Given the description of an element on the screen output the (x, y) to click on. 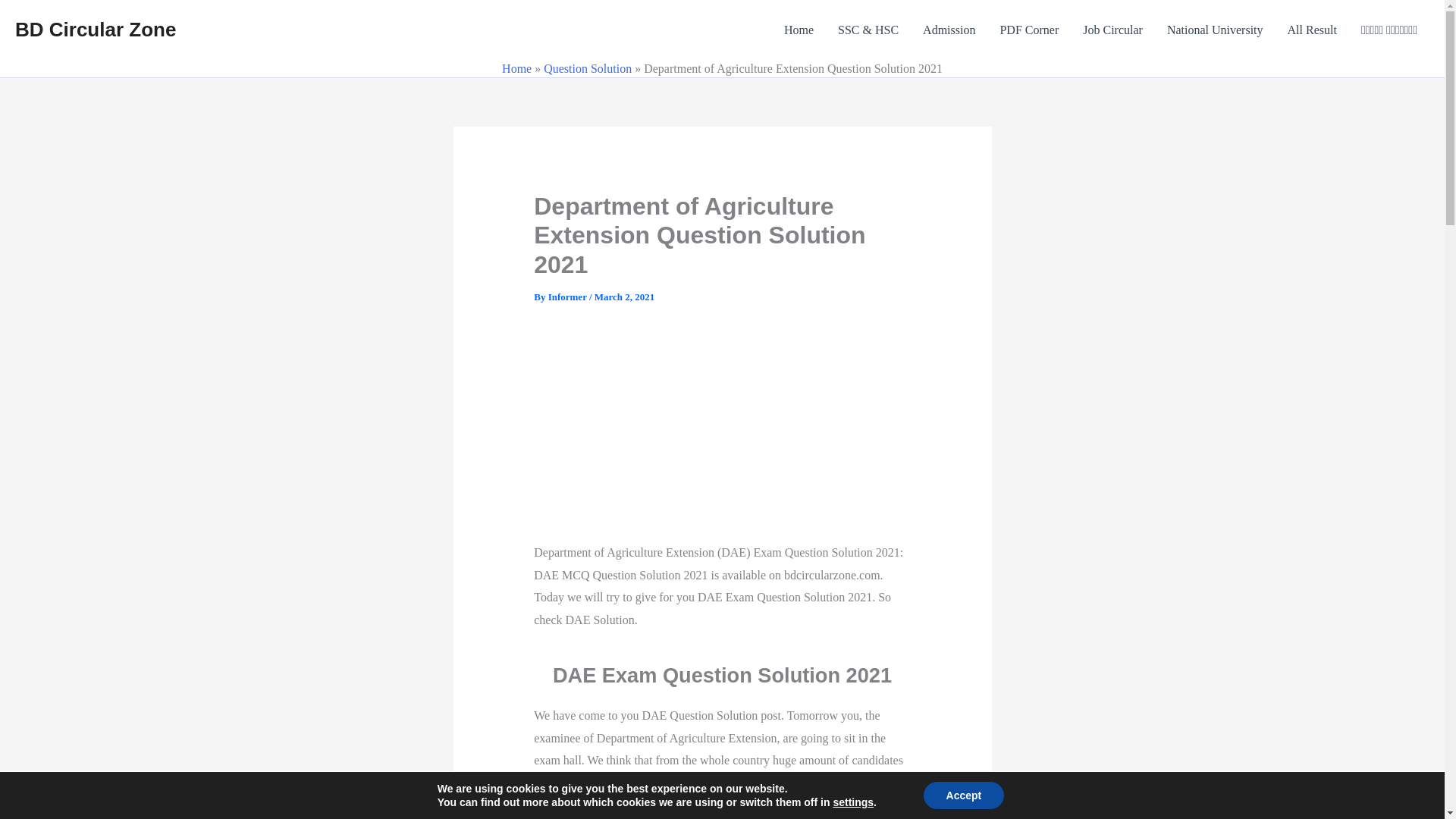
View all posts by Informer (568, 296)
National University (1214, 30)
Home (516, 68)
Question Solution (587, 68)
settings (852, 802)
BD Circular Zone (95, 29)
Informer (568, 296)
All Result (1312, 30)
Accept (963, 795)
Advertisement (772, 435)
